Given the description of an element on the screen output the (x, y) to click on. 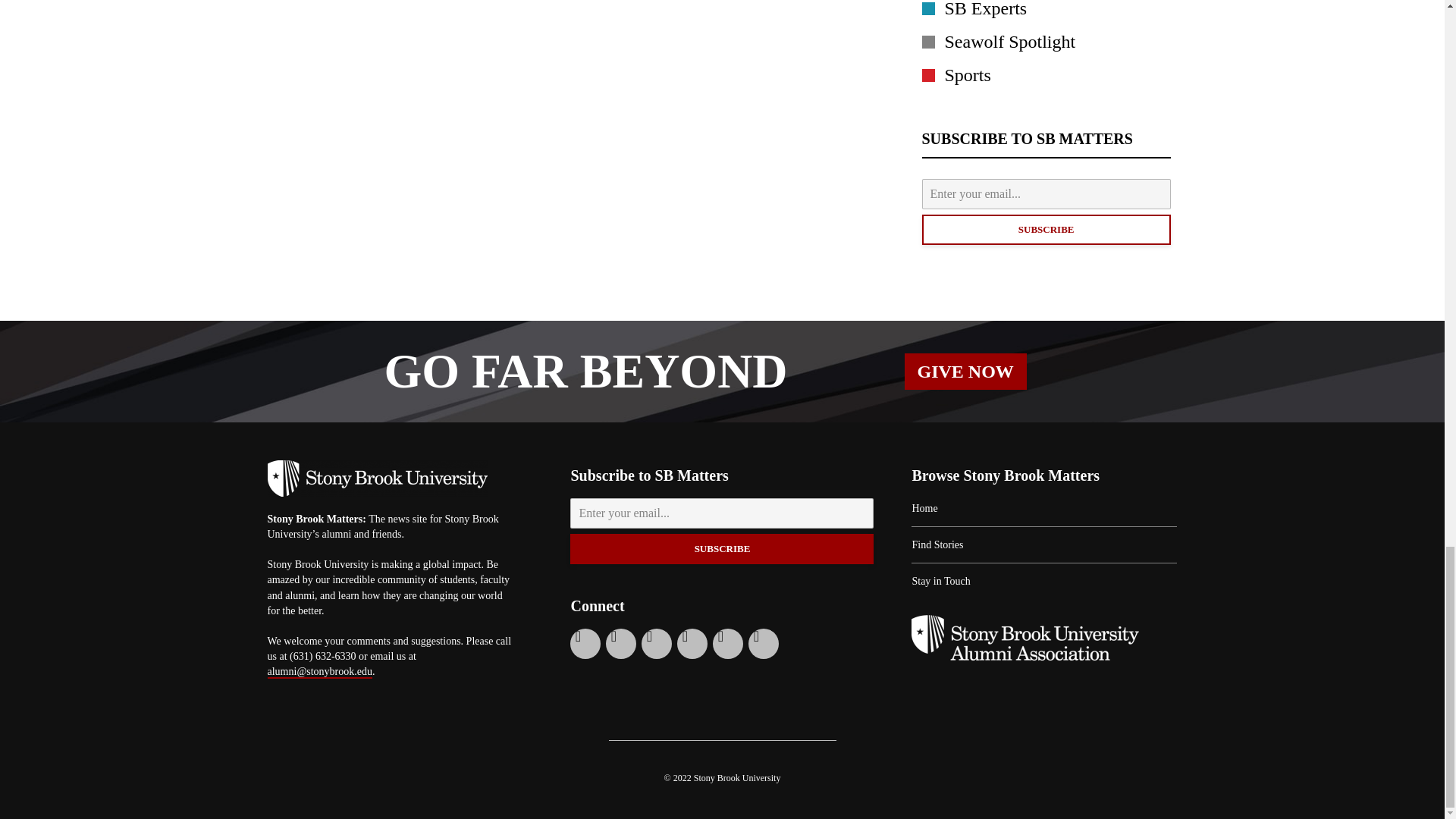
stony-brook-university-logo-horizontal-white-300 (376, 478)
